Given the description of an element on the screen output the (x, y) to click on. 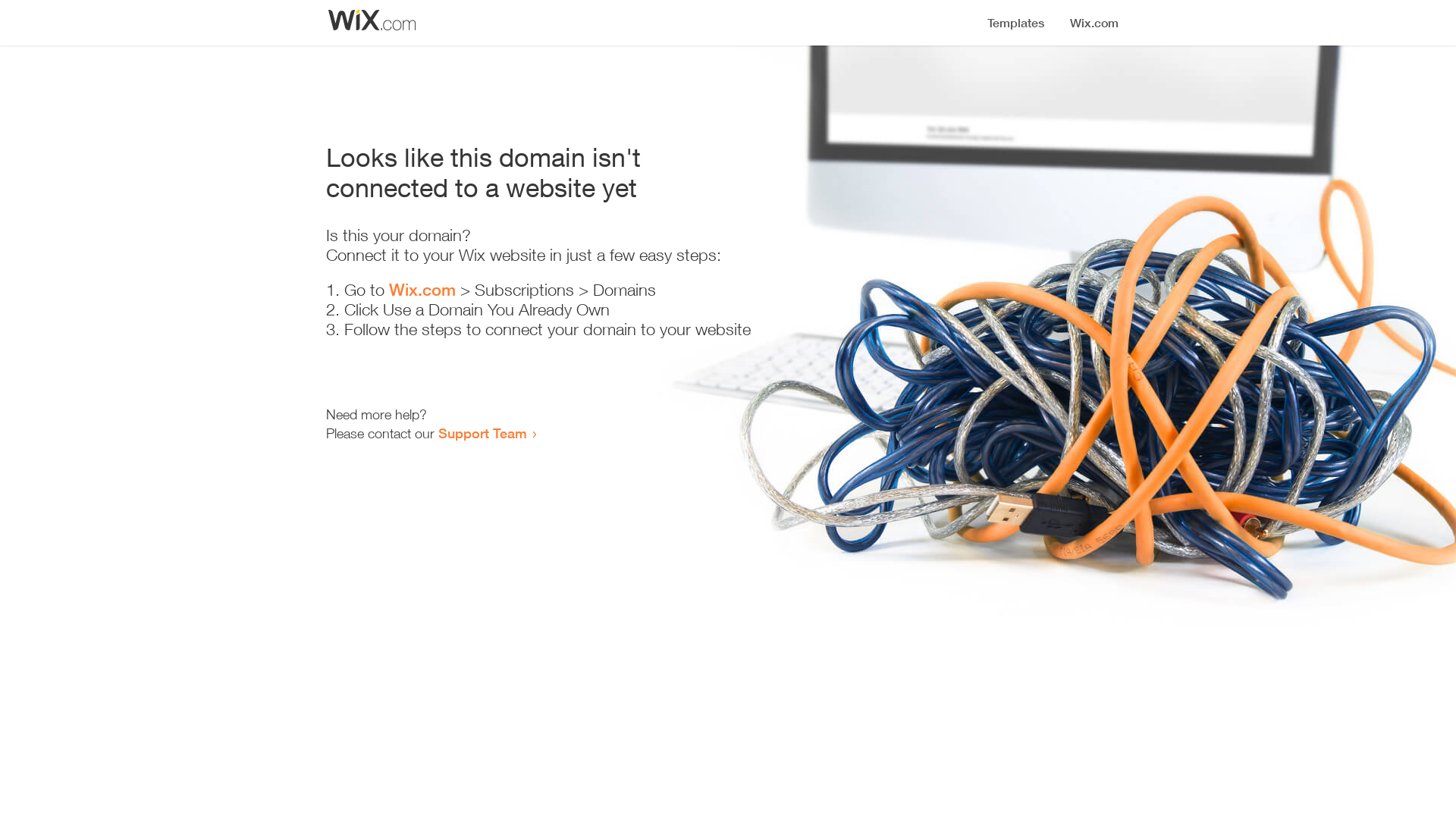
Support Team Element type: text (482, 432)
Wix.com Element type: text (422, 289)
